Given the description of an element on the screen output the (x, y) to click on. 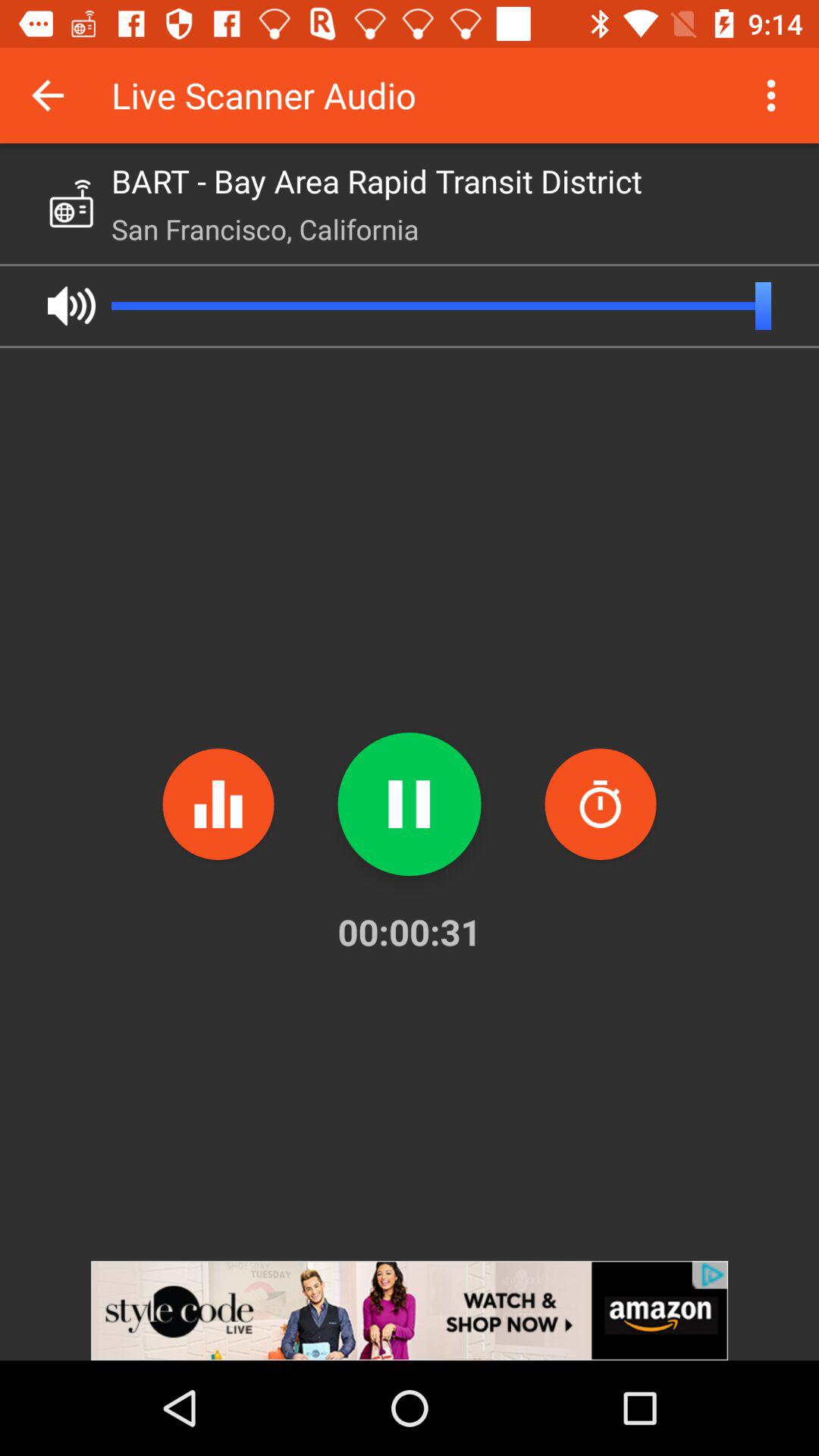
click to more details (771, 95)
